Given the description of an element on the screen output the (x, y) to click on. 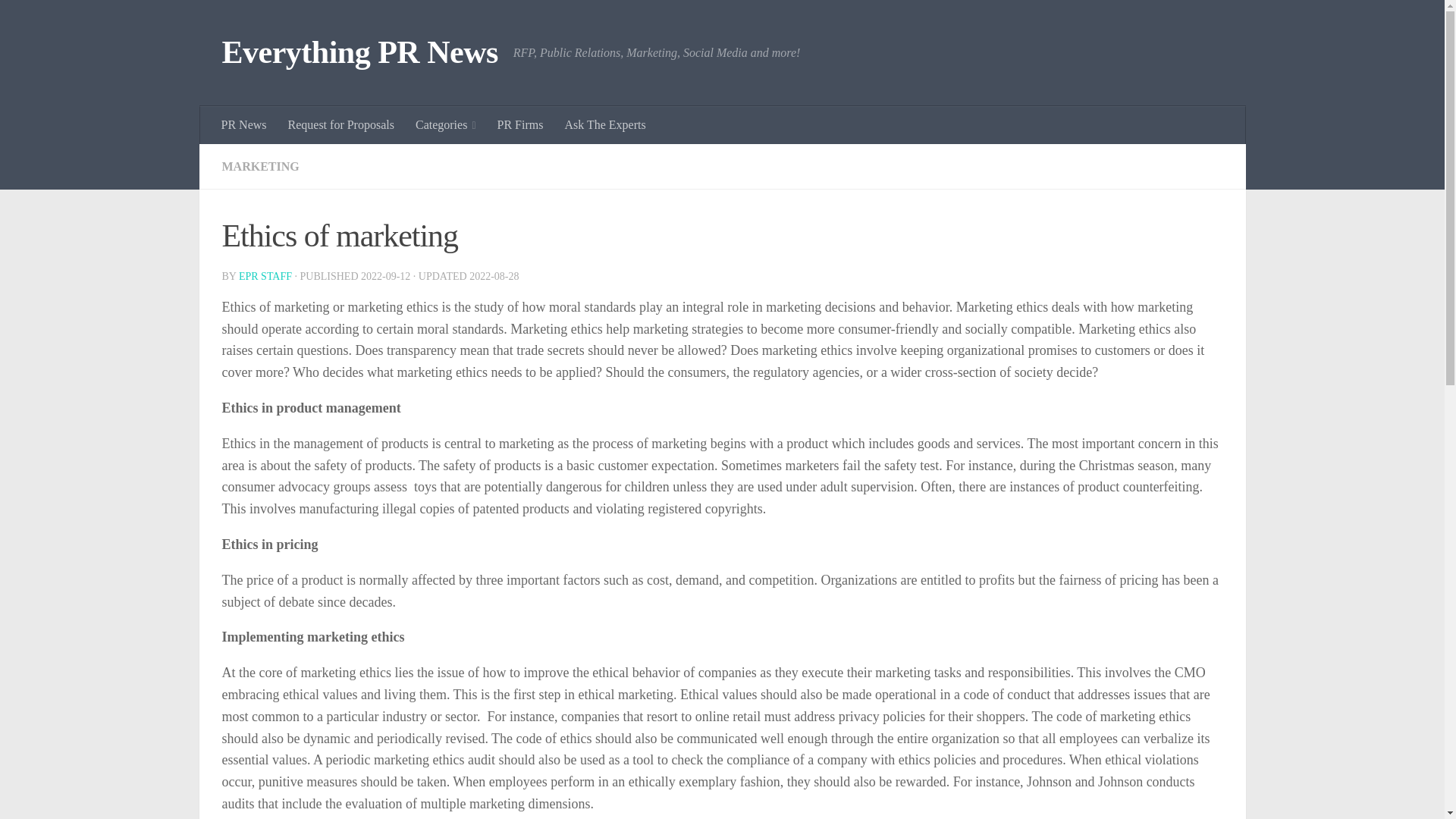
Posts by EPR Staff (265, 276)
Categories (445, 125)
Skip to content (59, 20)
Everything PR News (359, 53)
Request for Proposals (341, 125)
PR News (244, 125)
